Given the description of an element on the screen output the (x, y) to click on. 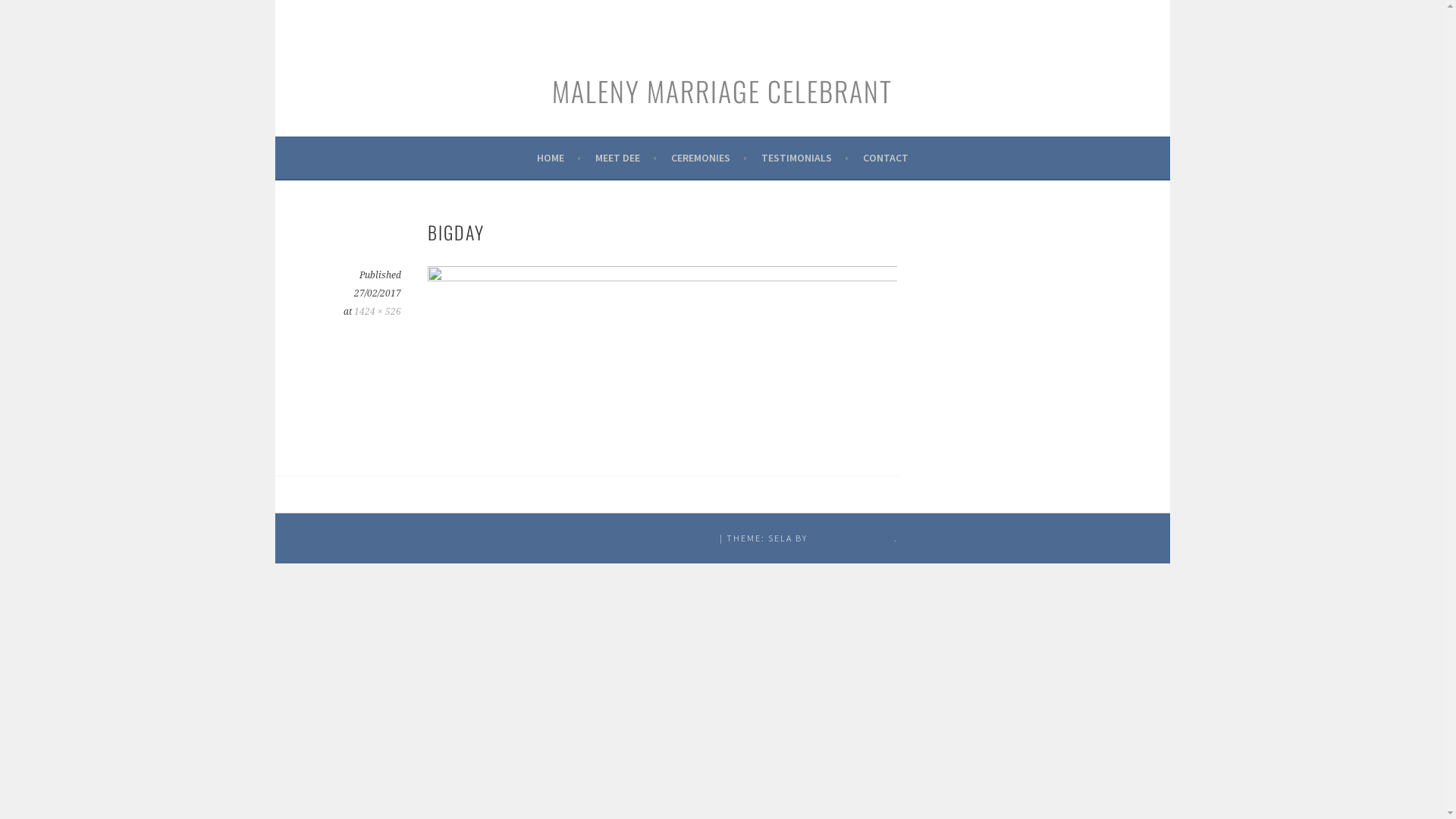
WORDPRESS.COM Element type: text (852, 537)
CONTACT Element type: text (885, 157)
bigday Element type: hover (662, 276)
HOME Element type: text (558, 157)
TESTIMONIALS Element type: text (804, 157)
CEREMONIES Element type: text (708, 157)
MEET DEE Element type: text (624, 157)
PROUDLY POWERED BY WORDPRESS Element type: text (631, 537)
MALENY MARRIAGE CELEBRANT Element type: text (722, 90)
